Given the description of an element on the screen output the (x, y) to click on. 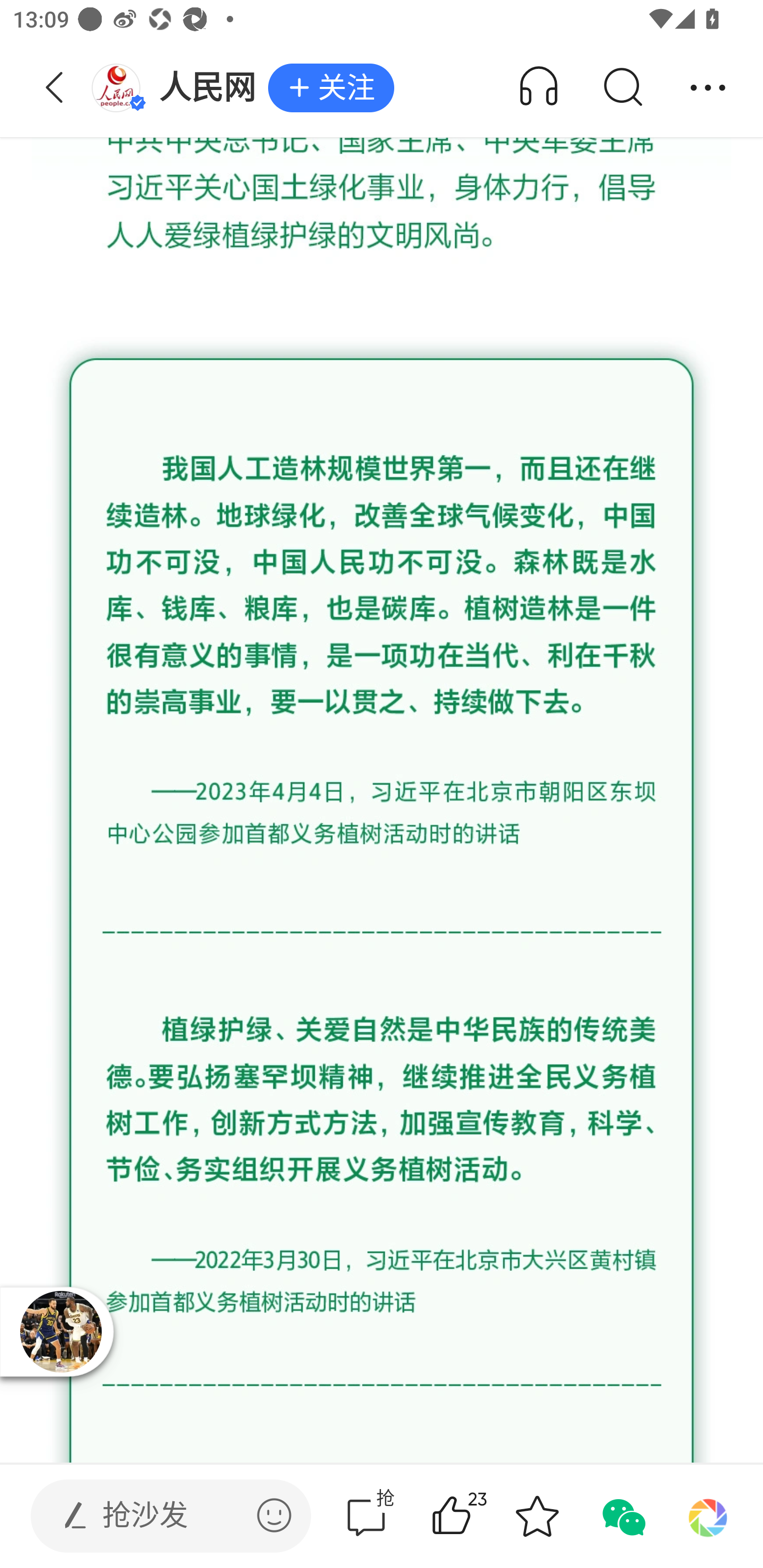
人民网 (179, 87)
搜索  (622, 87)
分享  (707, 87)
 返回 (54, 87)
 关注 (330, 88)
播放器 (60, 1331)
发表评论  抢沙发 发表评论  (155, 1516)
抢评论  抢 评论 (365, 1516)
23赞 (476, 1516)
收藏  (536, 1516)
分享到微信  (622, 1516)
分享到朋友圈 (707, 1516)
 (274, 1515)
